Given the description of an element on the screen output the (x, y) to click on. 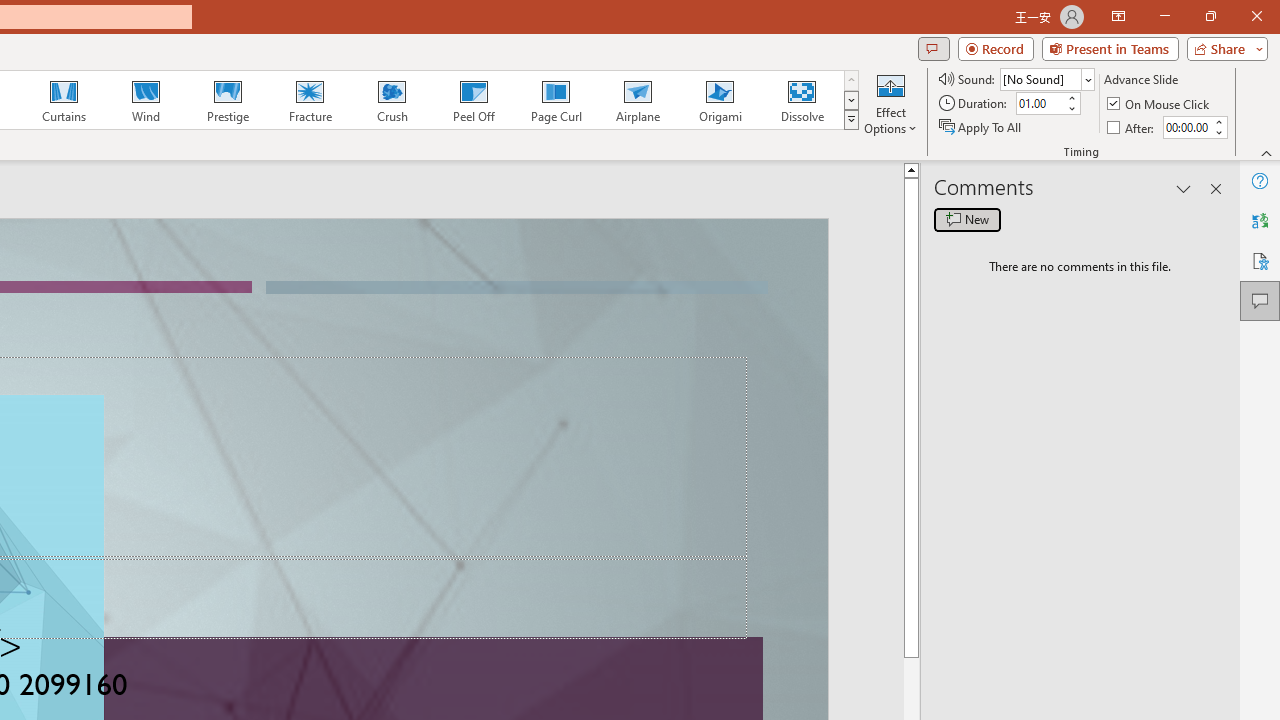
Peel Off (473, 100)
Curtains (63, 100)
Effect Options (890, 102)
On Mouse Click (1159, 103)
Crush (391, 100)
Airplane (637, 100)
New comment (967, 219)
